Given the description of an element on the screen output the (x, y) to click on. 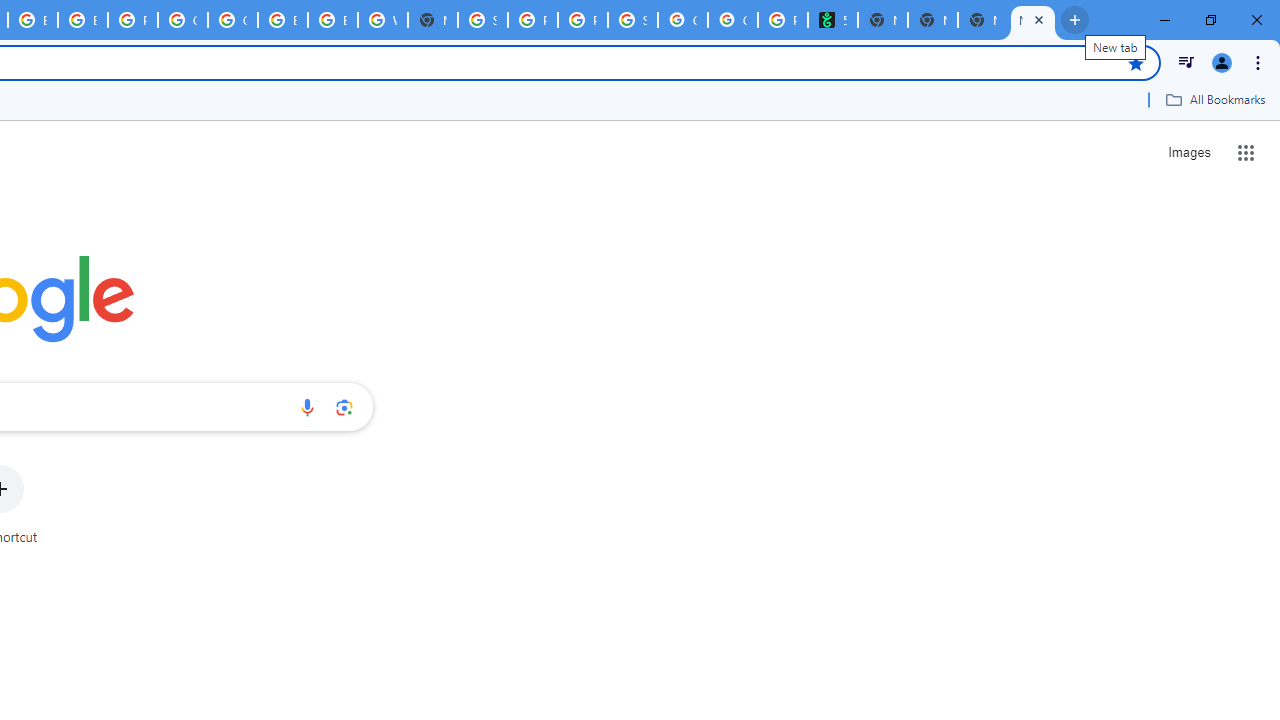
Google Cloud Platform (182, 20)
New Tab (433, 20)
